Given the description of an element on the screen output the (x, y) to click on. 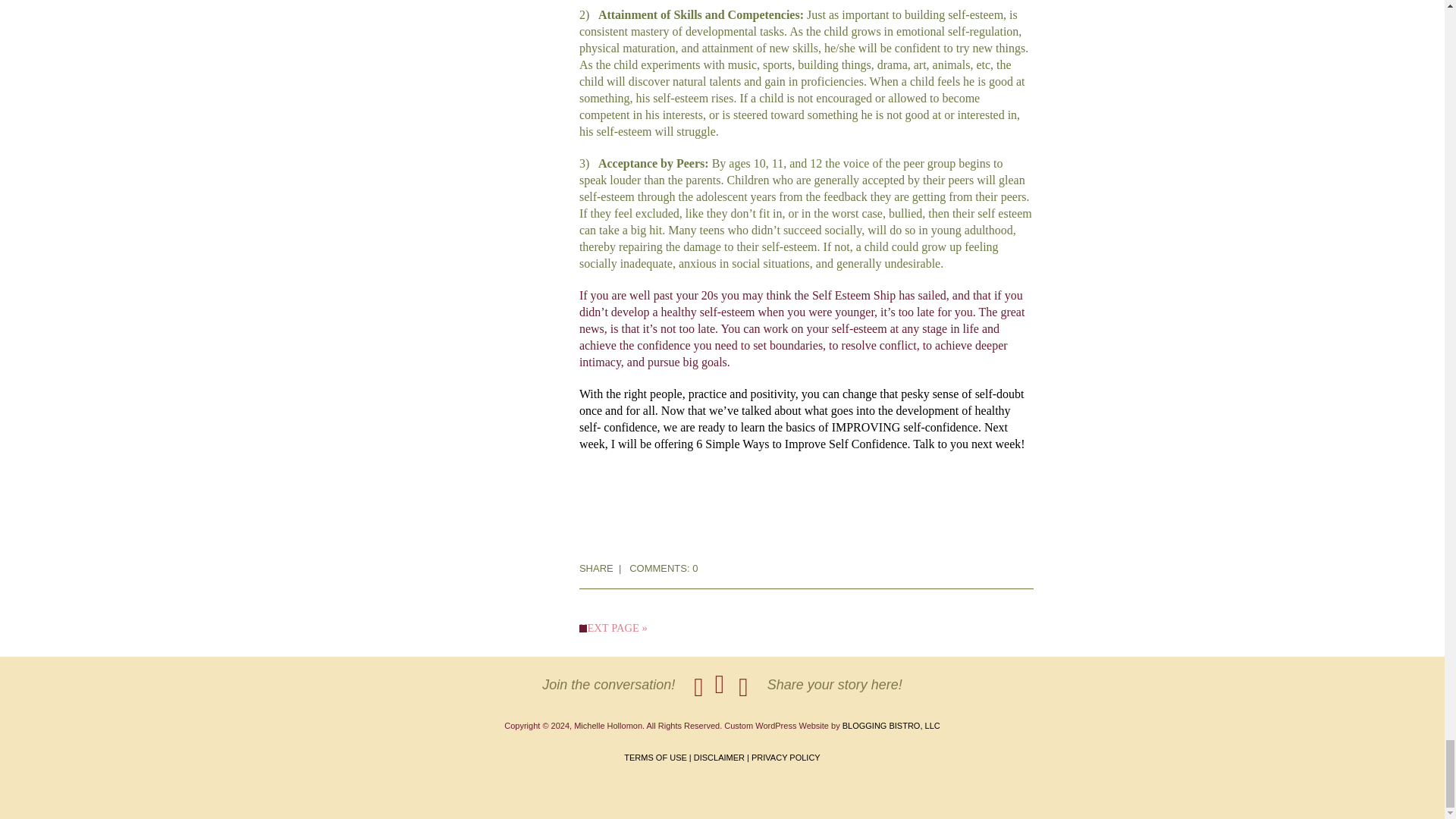
COMMENTS: 0 (662, 568)
SHARE (595, 568)
